Given the description of an element on the screen output the (x, y) to click on. 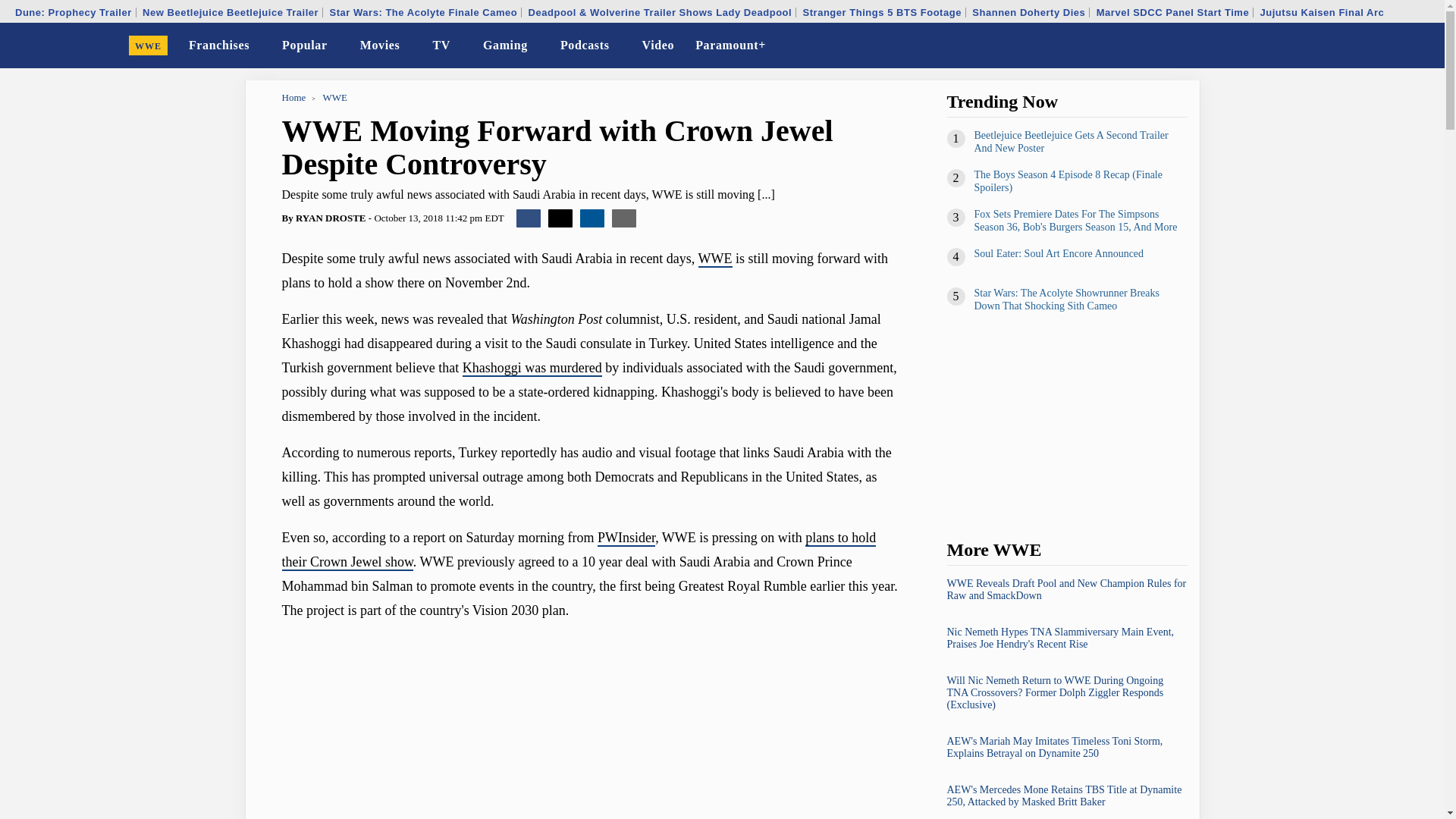
Star Wars: The Acolyte Finale Cameo (423, 12)
TV (441, 45)
Search (1422, 46)
Arrow (409, 46)
Shannen Doherty Dies (1028, 12)
Arrow (460, 45)
WWE (148, 45)
Stranger Things 5 BTS Footage (882, 12)
Arrow (337, 46)
Arrow (619, 46)
Arrow (537, 46)
Arrow (409, 45)
Arrow (460, 46)
Movies (379, 45)
